Given the description of an element on the screen output the (x, y) to click on. 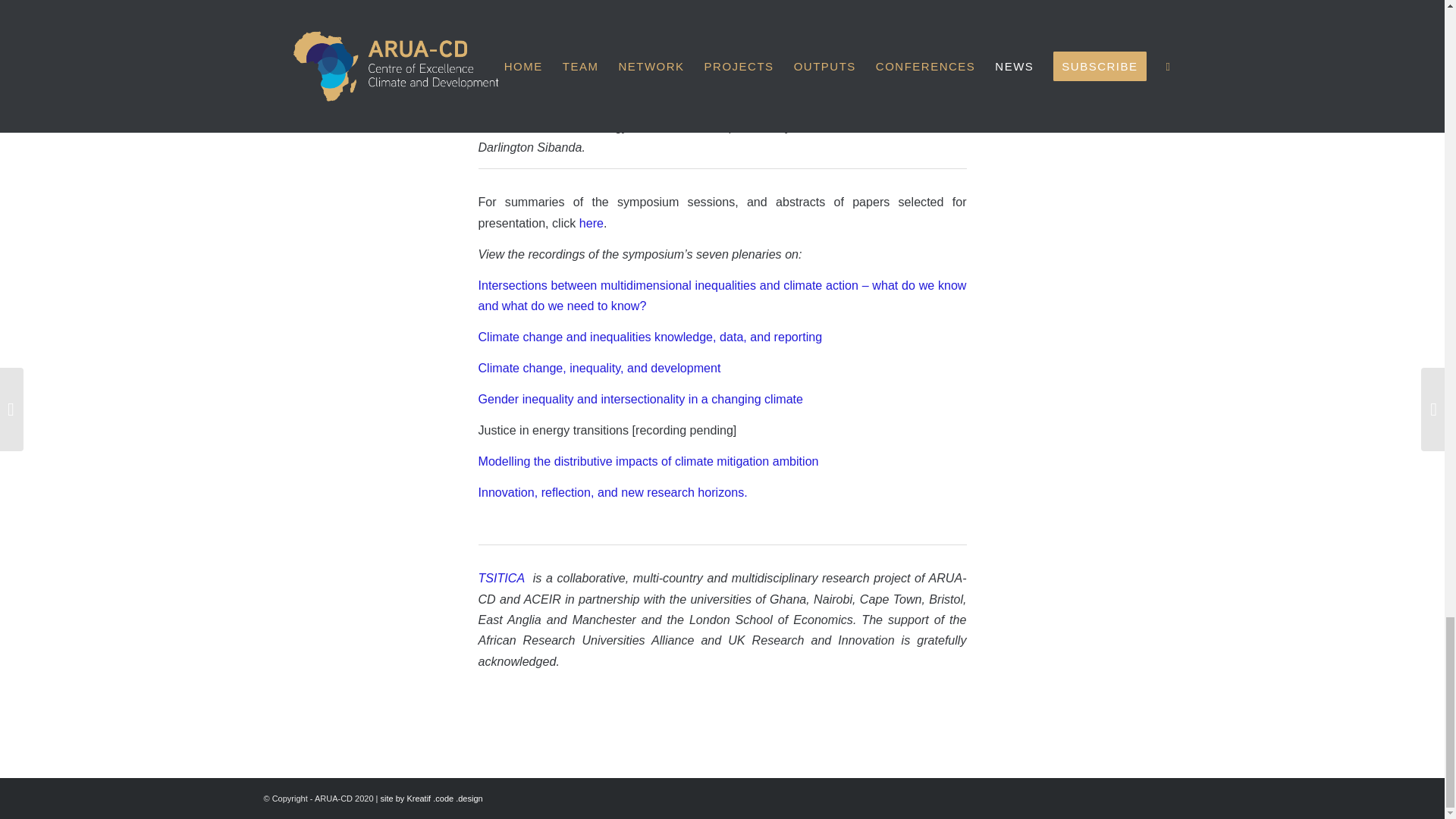
Climate change, inequality, and development (598, 367)
Innovation, reflection, and new research horizons. (611, 491)
here (591, 223)
TSITICA  (502, 577)
site by Kreatif .code .design (431, 798)
